Given the description of an element on the screen output the (x, y) to click on. 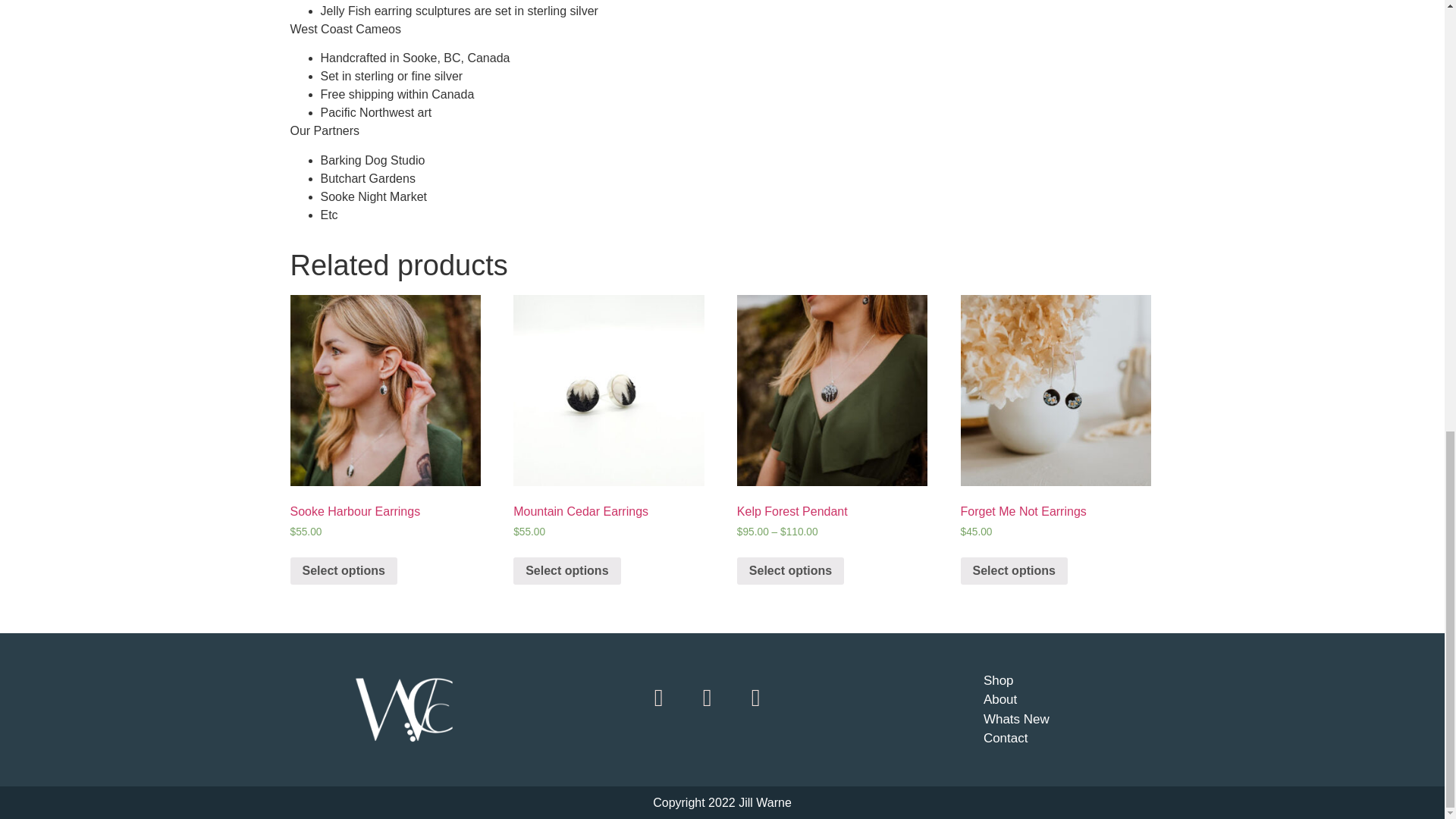
Whats New (1062, 719)
Select options (1013, 570)
Shop (1062, 680)
Select options (342, 570)
Contact (1062, 738)
About (1062, 700)
Select options (790, 570)
Select options (566, 570)
